Given the description of an element on the screen output the (x, y) to click on. 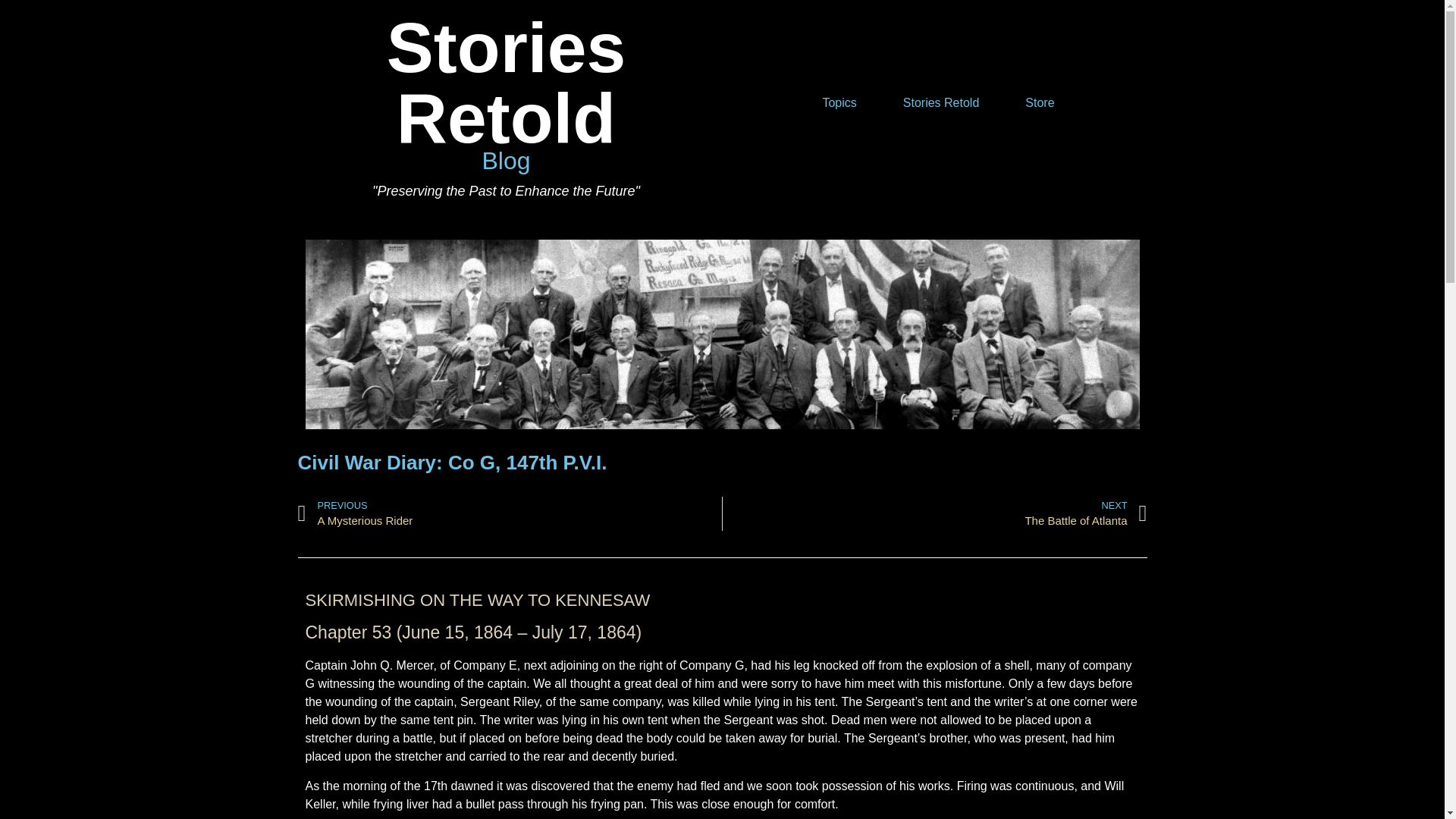
Topics (838, 102)
Civil War Diary: Co G, 147th P.V.I. (452, 462)
Stories Retold (941, 102)
Store (1039, 102)
Company-G-1915-header-banner (934, 513)
